Given the description of an element on the screen output the (x, y) to click on. 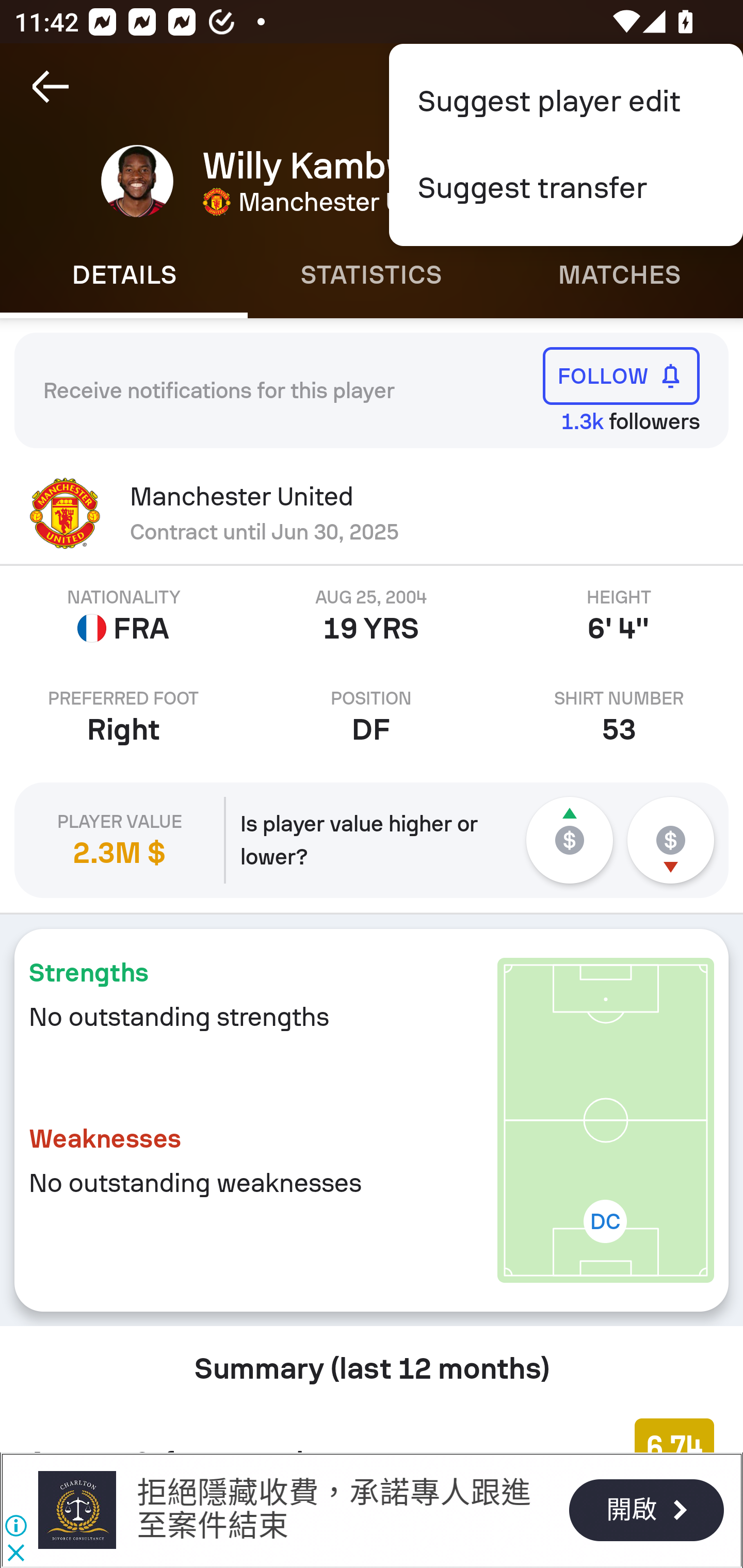
Suggest player edit (566, 101)
Suggest transfer (566, 188)
